Given the description of an element on the screen output the (x, y) to click on. 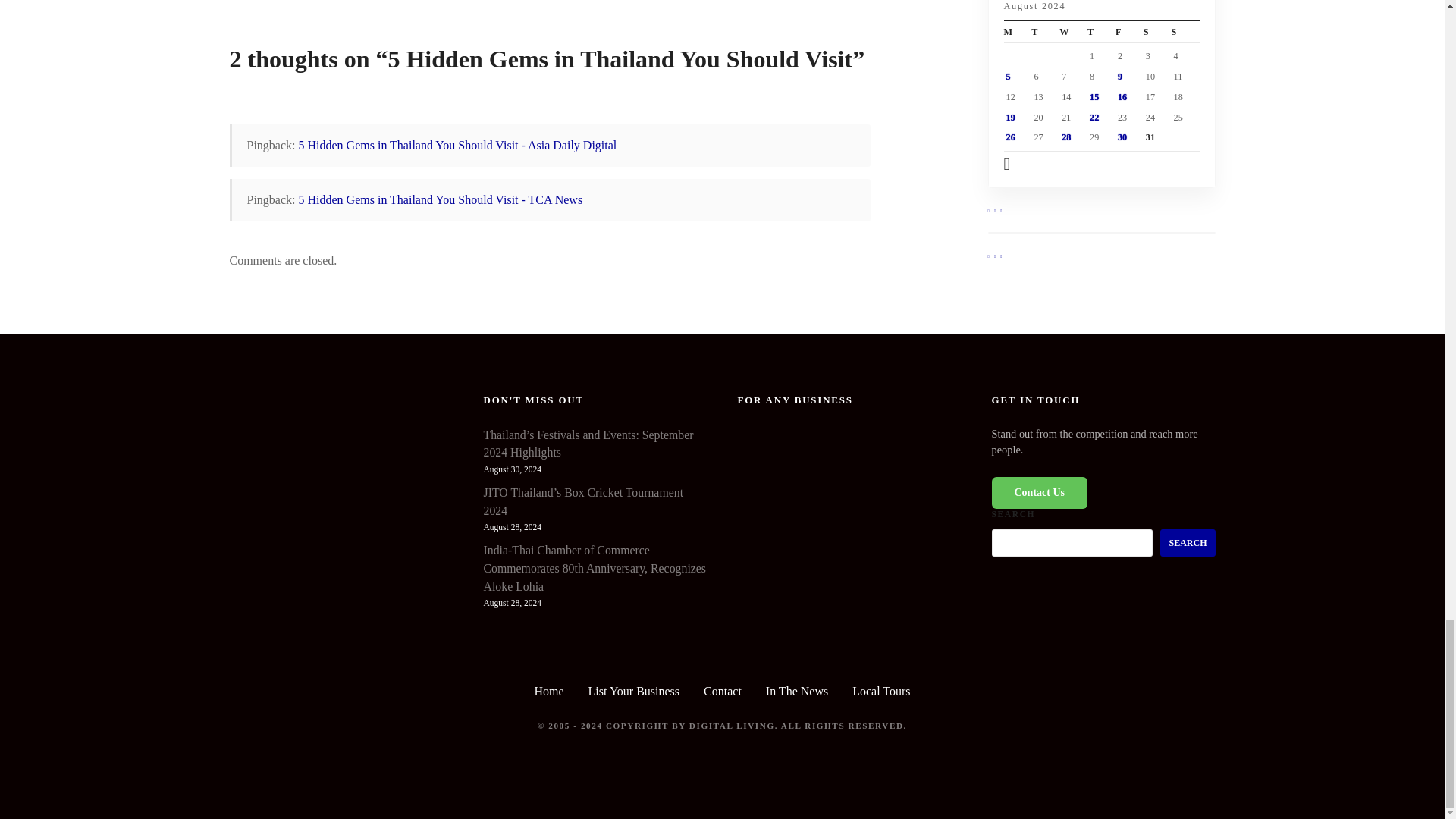
Saturday (1157, 31)
Tuesday (1044, 31)
Thursday (1101, 31)
Monday (1018, 31)
Sunday (1185, 31)
Wednesday (1073, 31)
Friday (1128, 31)
